Given the description of an element on the screen output the (x, y) to click on. 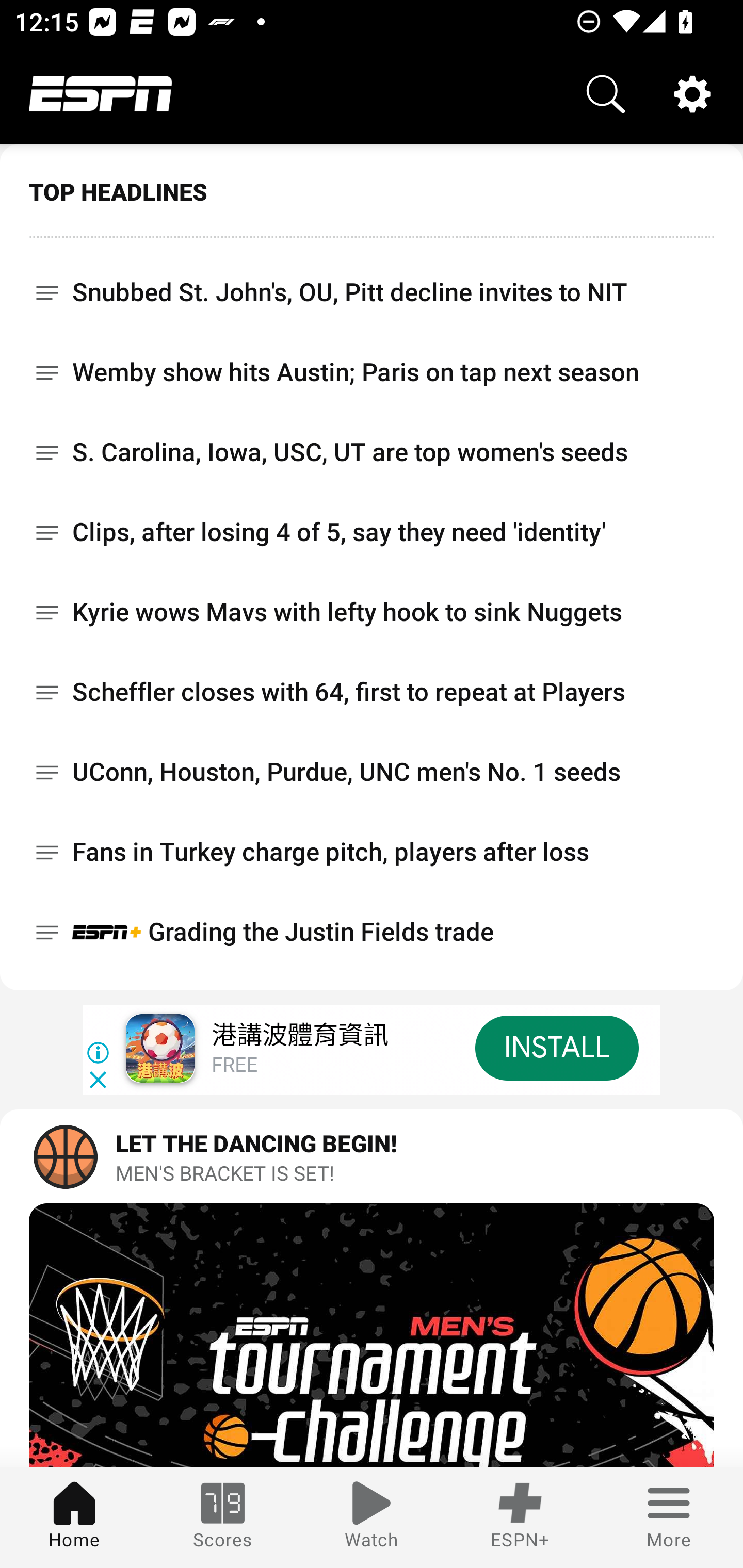
Search (605, 93)
Settings (692, 93)
 Wemby show hits Austin; Paris on tap next season (371, 372)
 S. Carolina, Iowa, USC, UT are top women's seeds (371, 452)
 Kyrie wows Mavs with lefty hook to sink Nuggets (371, 612)
 UConn, Houston, Purdue, UNC men's No. 1 seeds (371, 772)
 Fans in Turkey charge pitch, players after loss (371, 852)
INSTALL (556, 1048)
港講波體育資訊 (299, 1036)
FREE (234, 1065)
Scores (222, 1517)
Watch (371, 1517)
ESPN+ (519, 1517)
More (668, 1517)
